Given the description of an element on the screen output the (x, y) to click on. 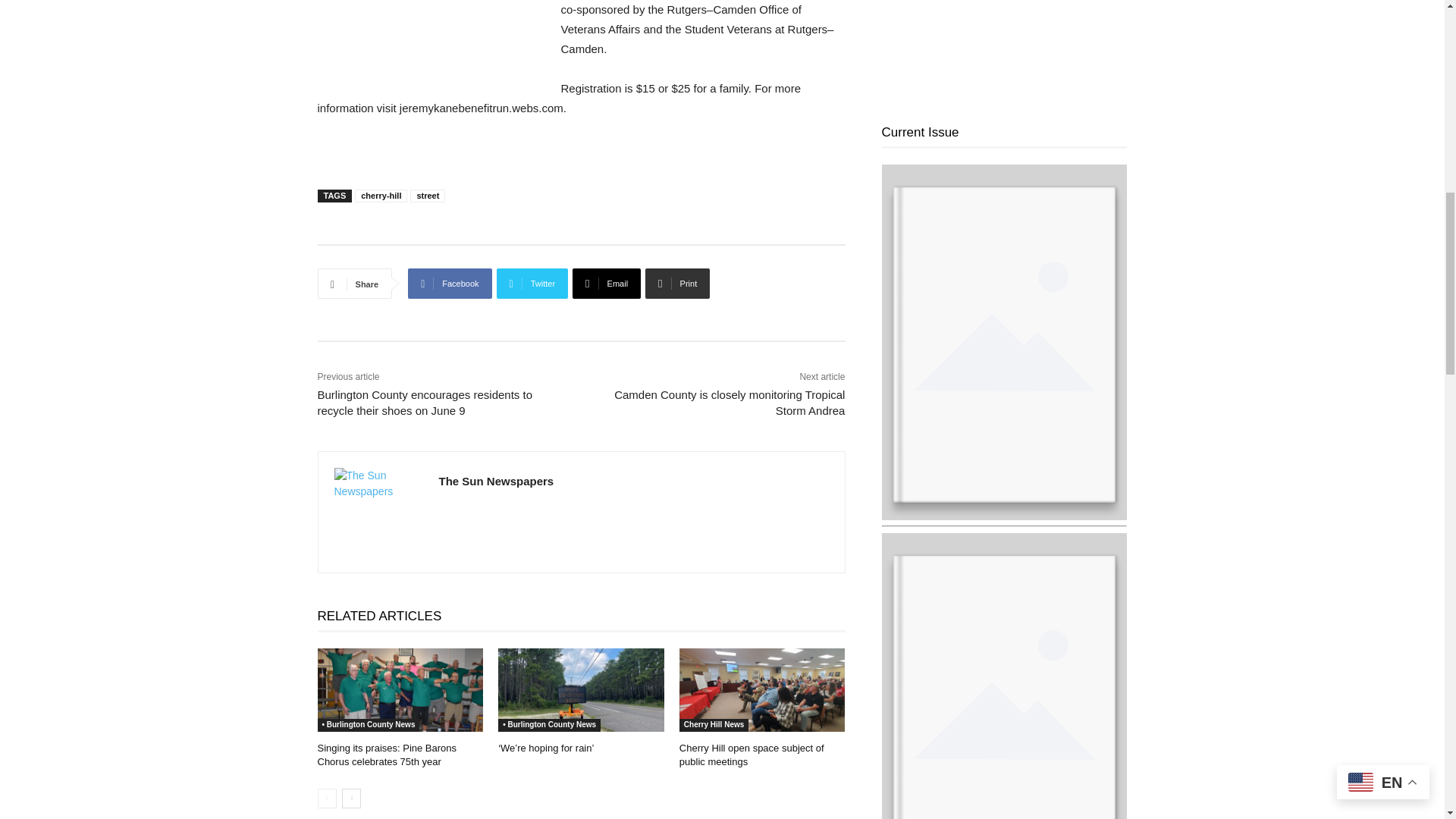
Twitter (532, 283)
Facebook (449, 283)
3rd party ad content (430, 38)
